Given the description of an element on the screen output the (x, y) to click on. 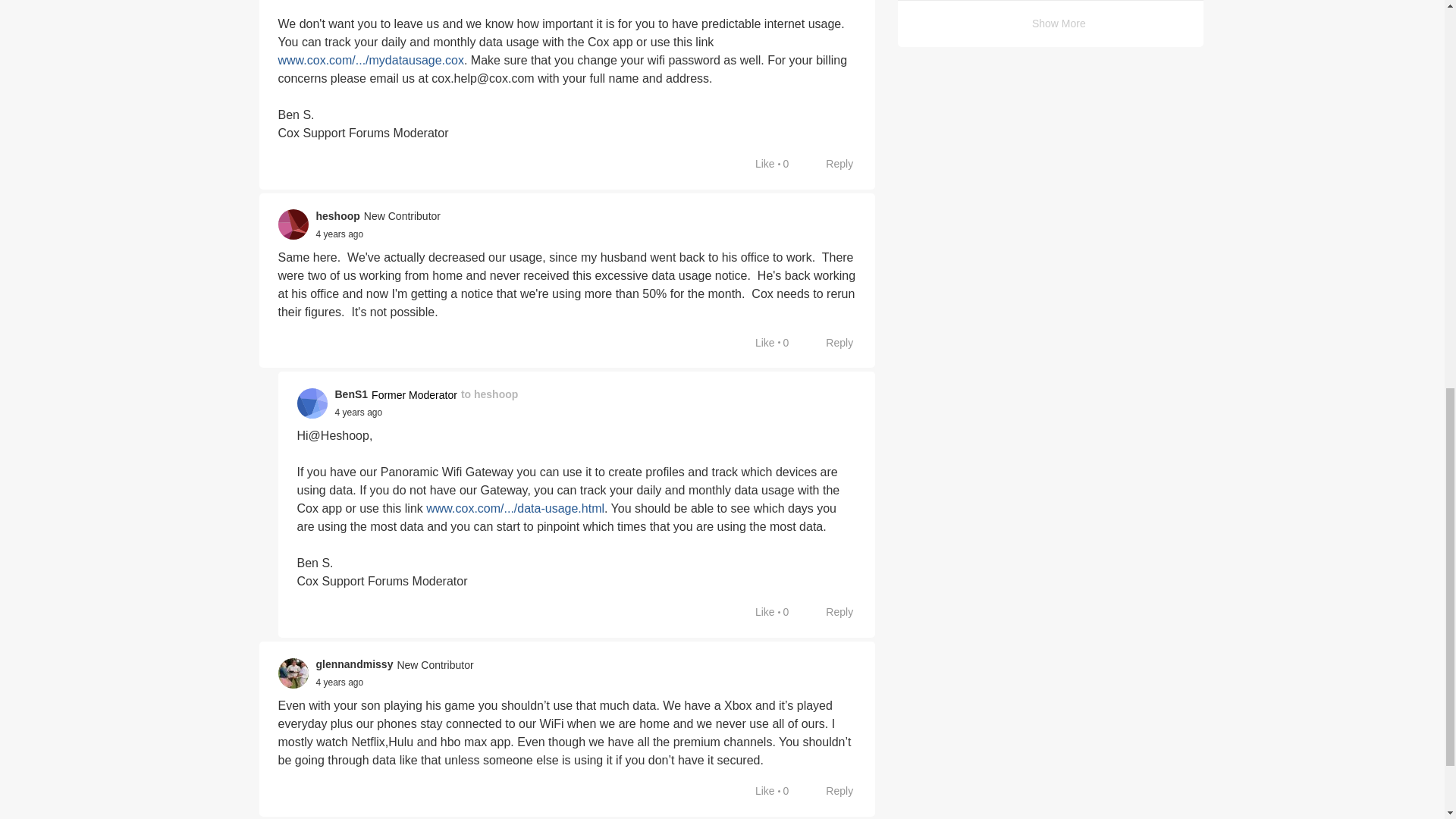
February 24, 2021 at 10:47 PM (338, 682)
February 10, 2021 at 4:55 PM (358, 412)
February 10, 2021 at 7:29 AM (338, 234)
